Given the description of an element on the screen output the (x, y) to click on. 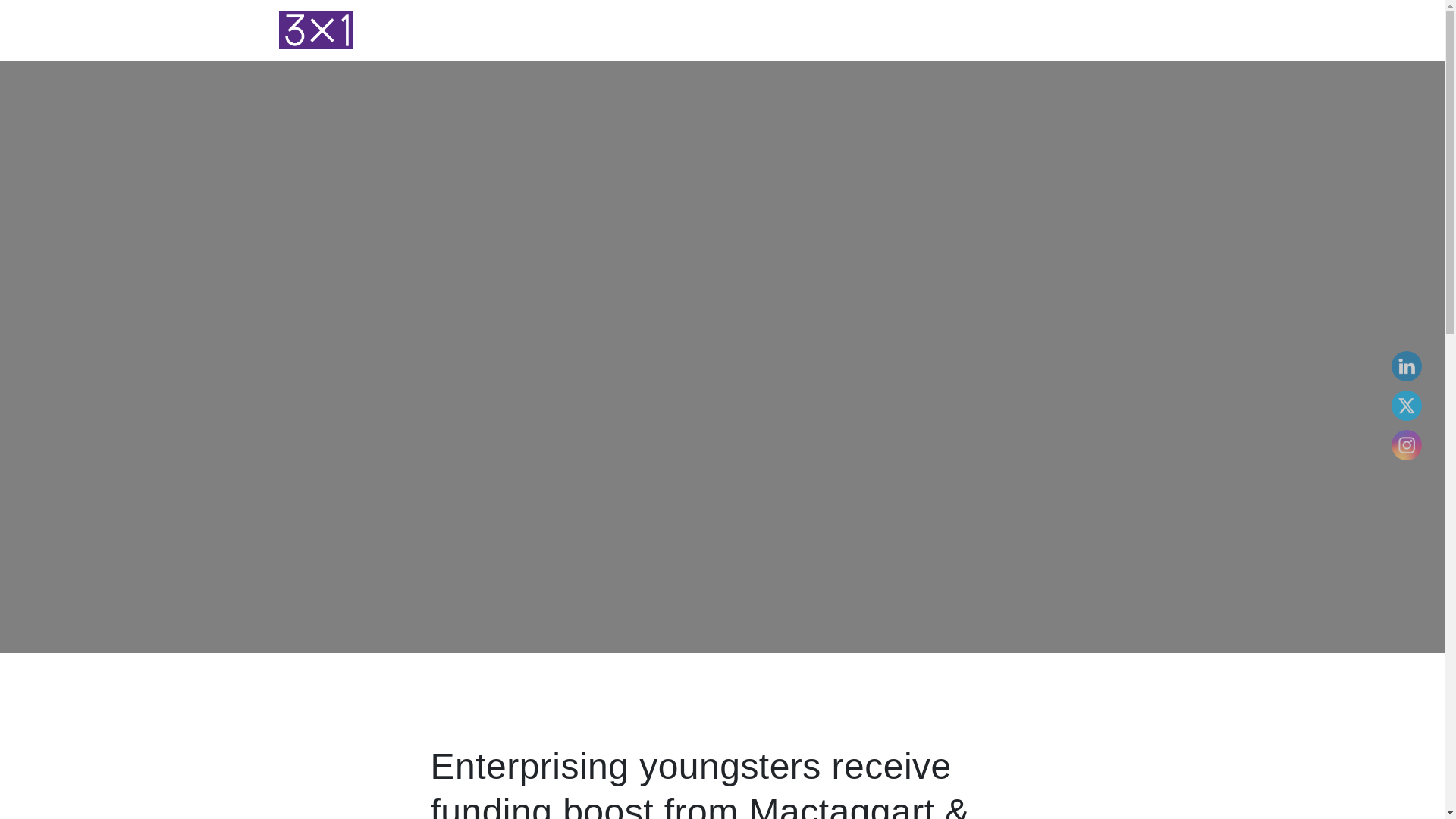
LinkedIn (1406, 365)
WHAT WE DO (926, 30)
OUR WORK (1009, 30)
CONTACT (1131, 30)
Twitter (1406, 405)
WHO WE ARE (838, 30)
Instagram (1406, 444)
